Given the description of an element on the screen output the (x, y) to click on. 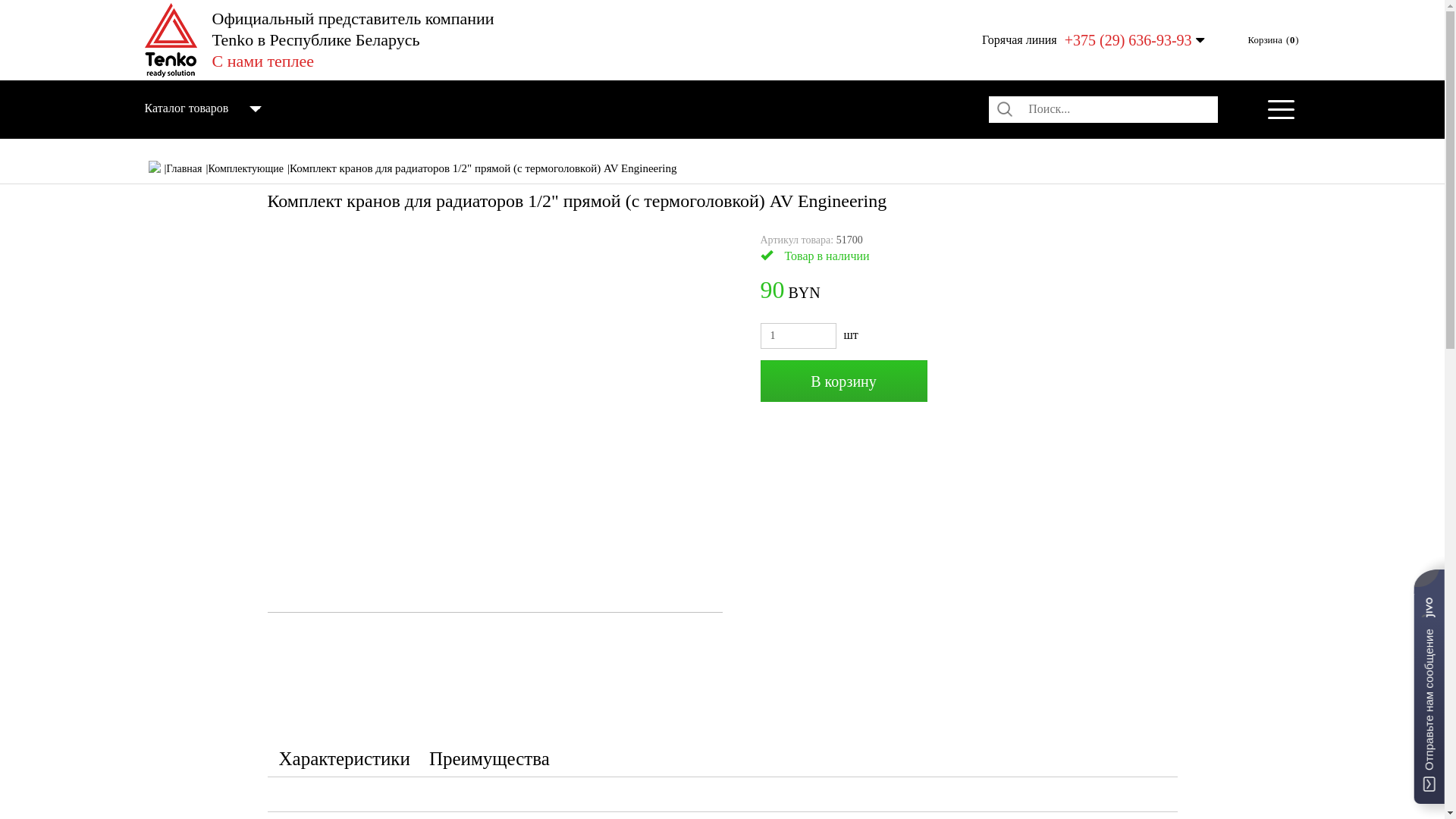
+375 (29) 636-93-93 Element type: text (1128, 39)
